Given the description of an element on the screen output the (x, y) to click on. 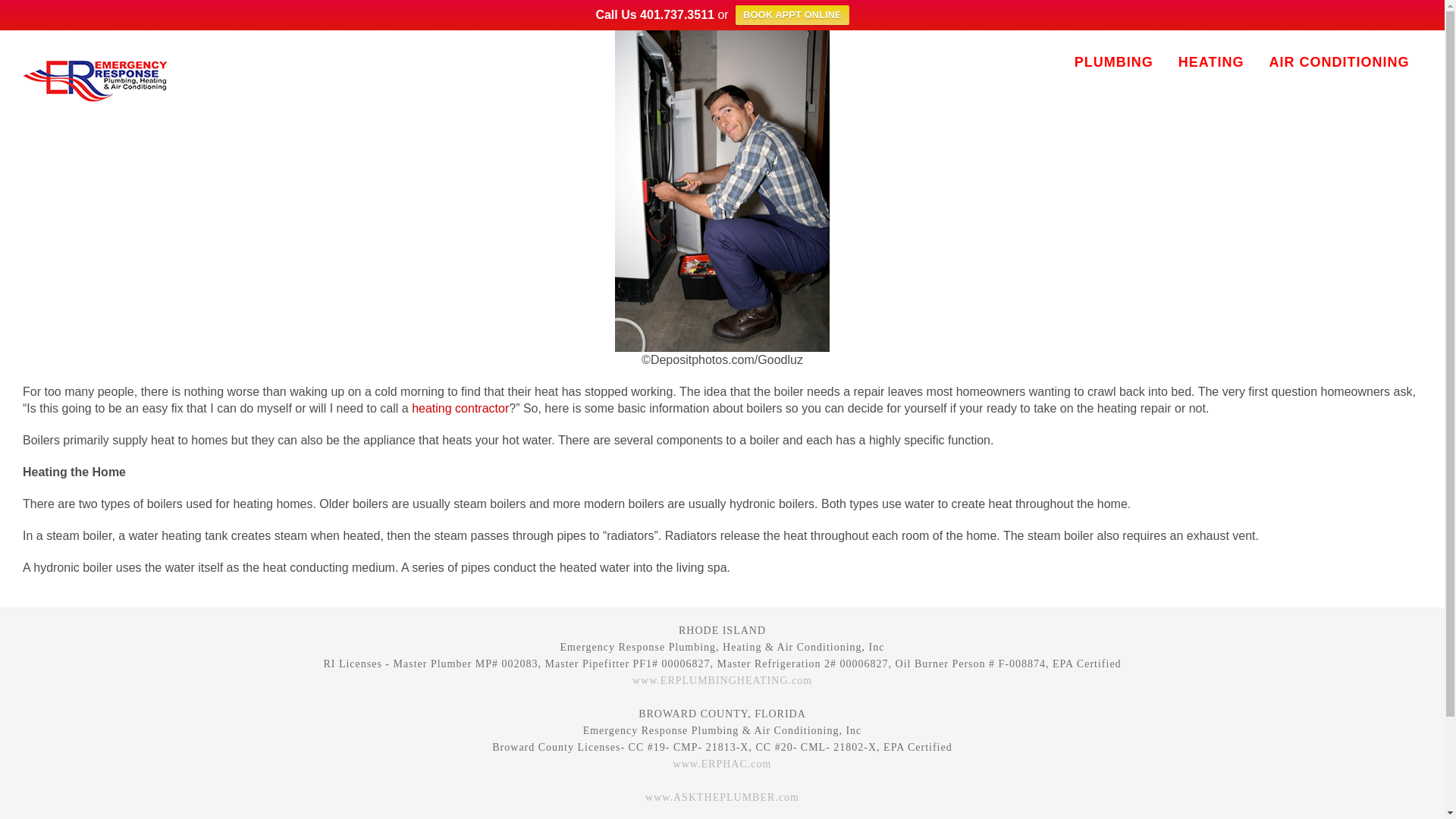
www.ASKTHEPLUMBER.com (722, 797)
www.ERPLUMBINGHEATING.com (721, 680)
www.ERPHAC.com (721, 763)
PLUMBING (1113, 62)
AIR CONDITIONING (1339, 62)
heating contractor (460, 408)
Call Us 401.737.3511 (654, 14)
HEATING (1211, 62)
heating contractor (460, 408)
BOOK APPT ONLINE (791, 14)
